Given the description of an element on the screen output the (x, y) to click on. 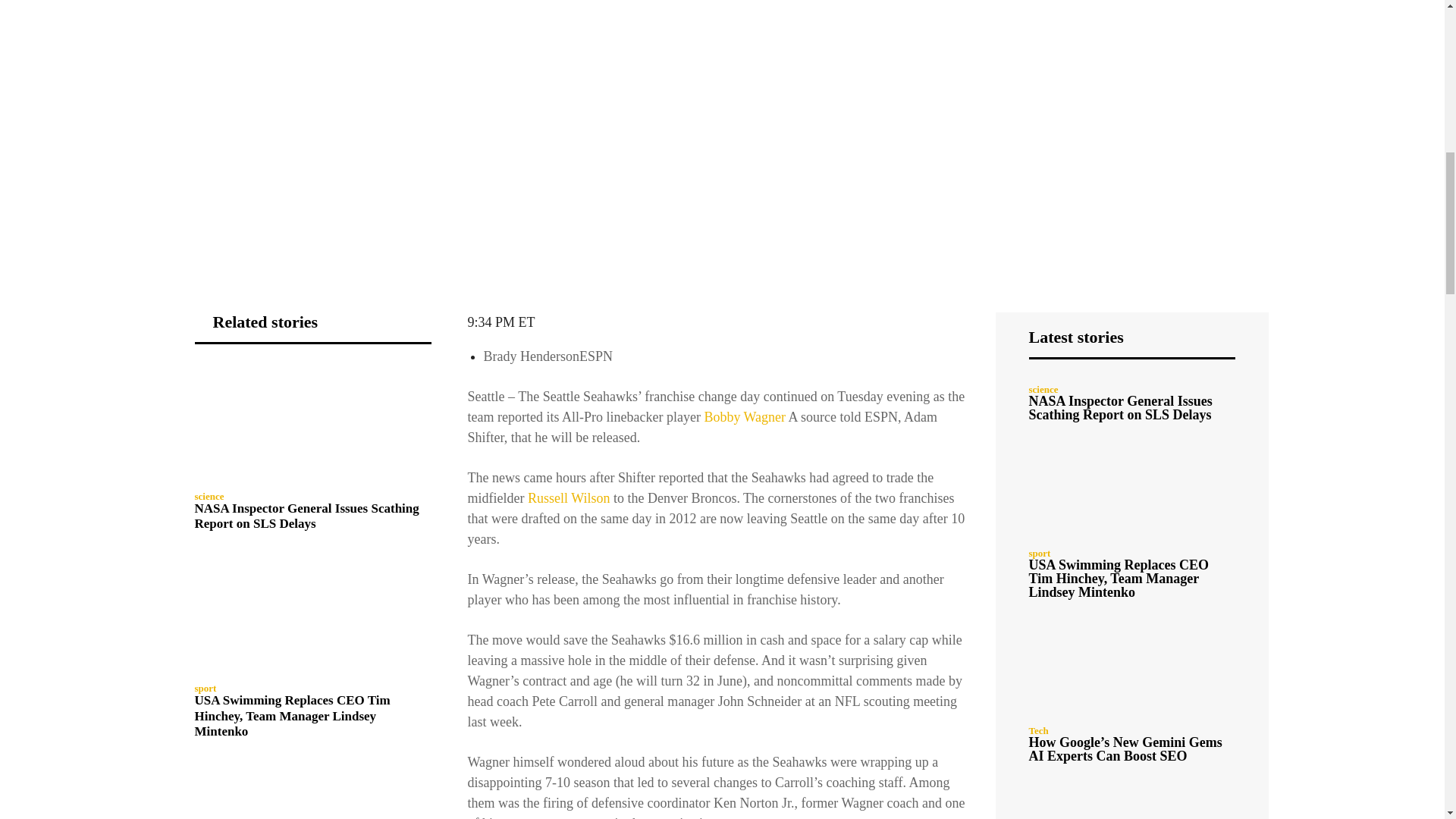
NASA Inspector General Issues Scathing Report on SLS Delays (306, 515)
NASA Inspector General Issues Scathing Report on SLS Delays (311, 422)
